Given the description of an element on the screen output the (x, y) to click on. 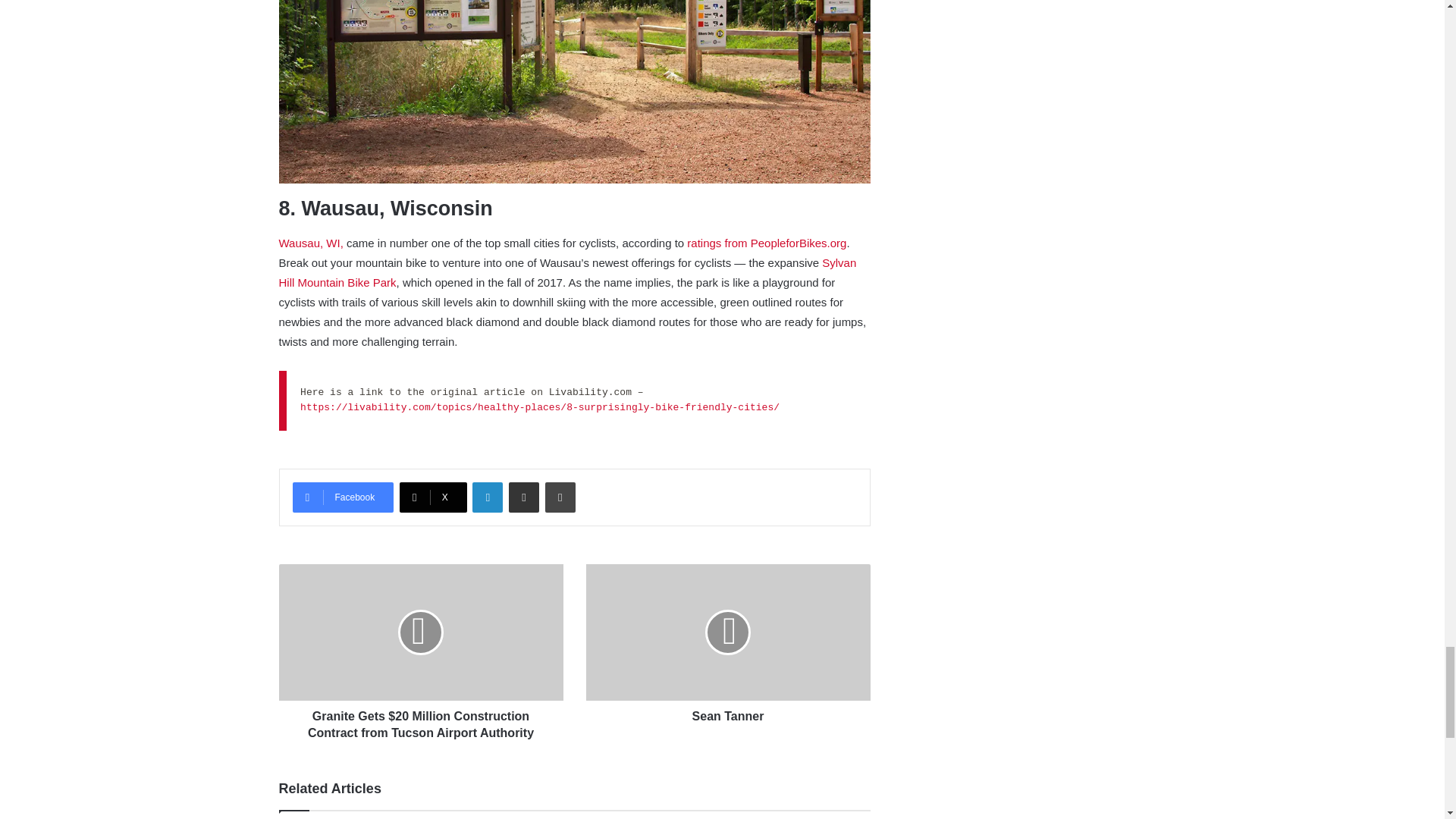
Share via Email (523, 497)
X (432, 497)
Facebook (343, 497)
Print (559, 497)
LinkedIn (486, 497)
